Given the description of an element on the screen output the (x, y) to click on. 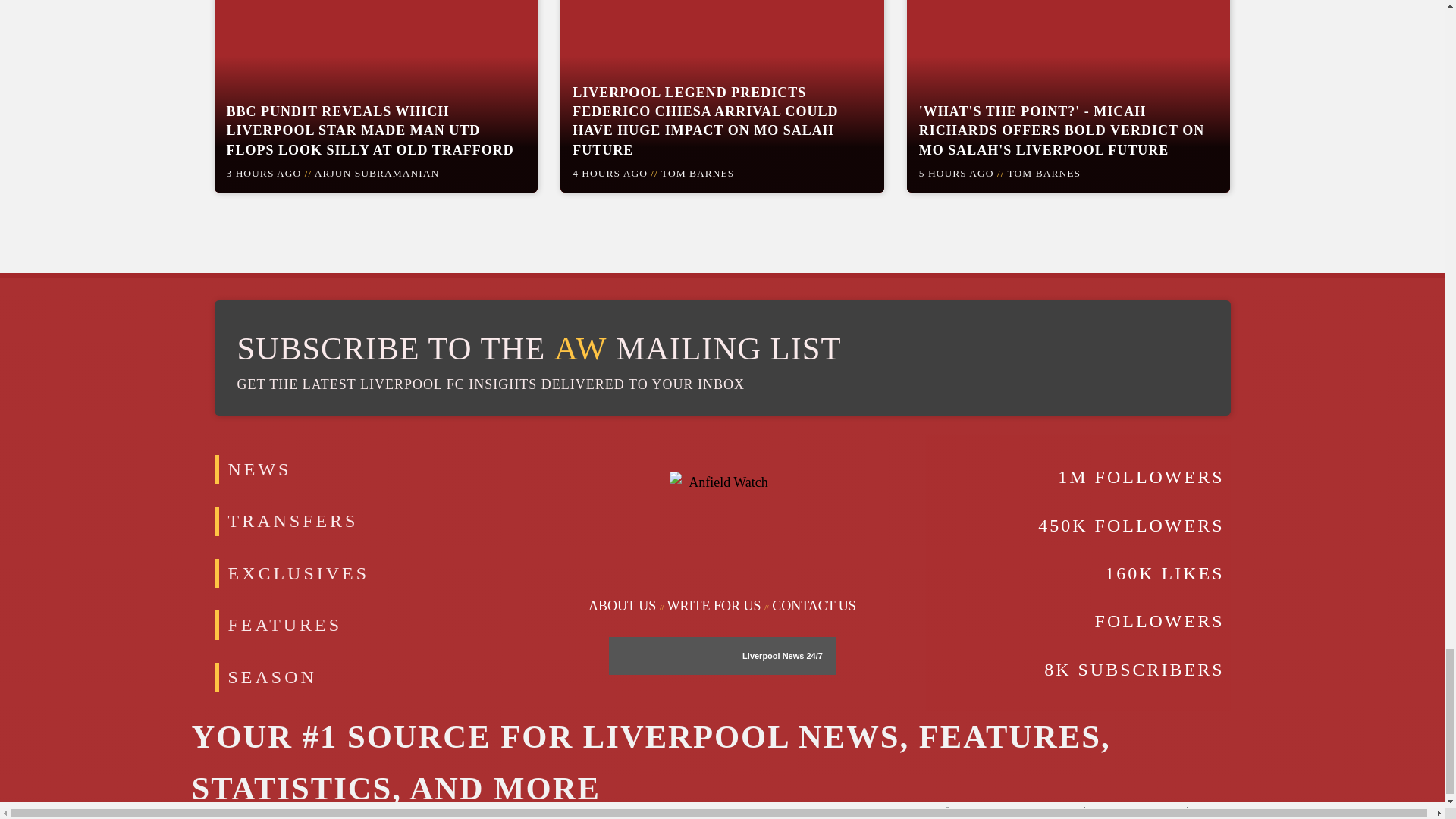
Click here for more Liverpool news from NewsNow (772, 655)
Click here for more Liverpool news from NewsNow (812, 655)
Click here for more Liverpool news from NewsNow (668, 655)
